Given the description of an element on the screen output the (x, y) to click on. 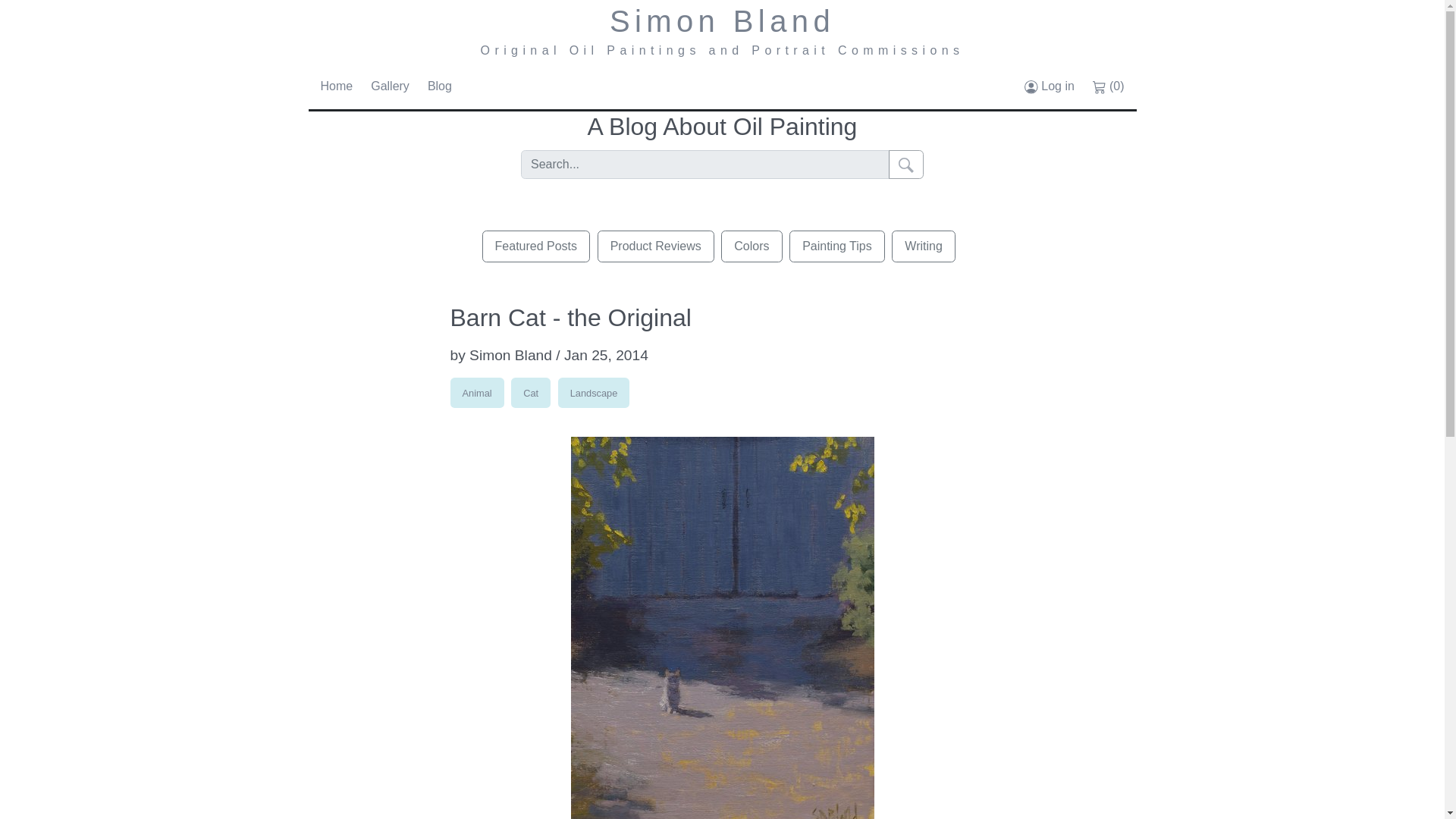
Writing (923, 246)
Featured Posts (536, 246)
Log in (1049, 85)
Blog (439, 85)
Gallery (390, 85)
Cat (530, 392)
Colors (750, 246)
Animal (476, 392)
Home (336, 85)
Product Reviews (655, 246)
Painting Tips (837, 246)
Landscape (593, 392)
